Given the description of an element on the screen output the (x, y) to click on. 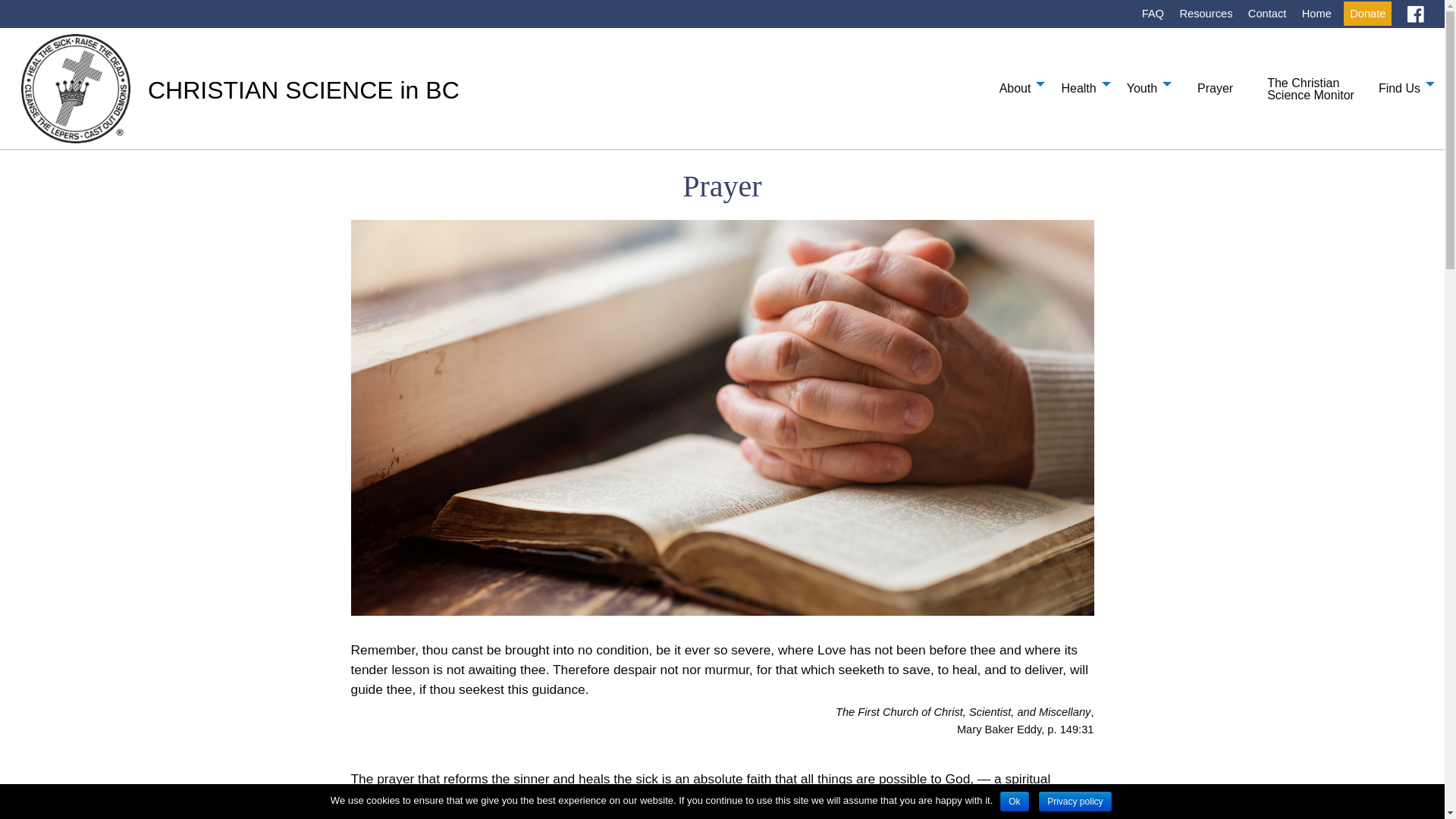
Prayer Element type: text (1215, 88)
Find Us Element type: text (1402, 83)
Resources Element type: text (1205, 13)
Contact Element type: text (1267, 13)
Youth Element type: text (1144, 83)
The Christian
Science Monitor Element type: text (1310, 86)
About Element type: text (1018, 83)
Home Element type: text (1316, 13)
FAQ Element type: text (1153, 13)
Health Element type: text (1080, 83)
Donate Element type: text (1367, 13)
Ok Element type: text (1014, 801)
CHRISTIAN SCIENCE in BC Element type: text (303, 89)
Privacy policy Element type: text (1074, 801)
